Given the description of an element on the screen output the (x, y) to click on. 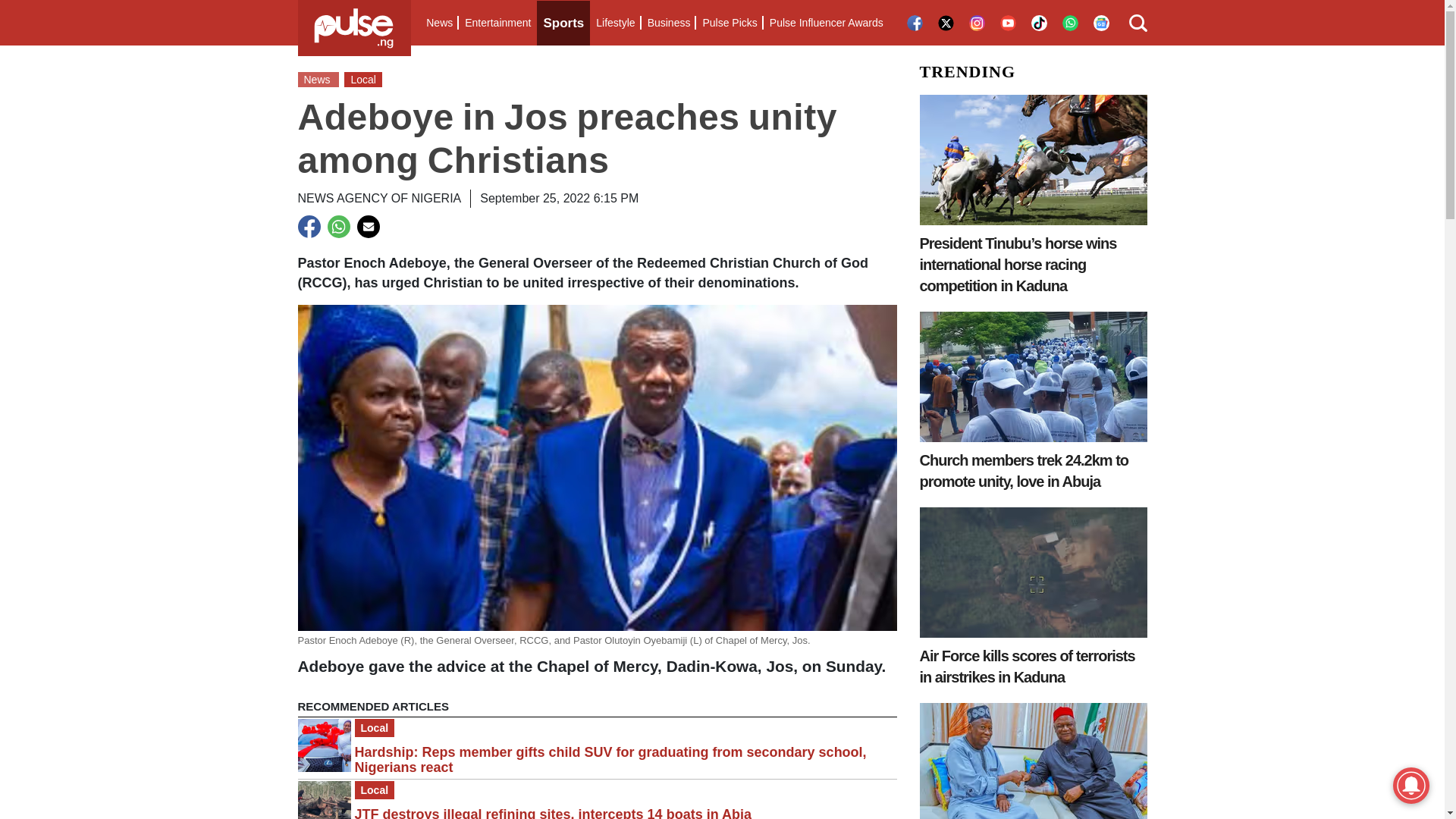
Business (669, 22)
Entertainment (497, 22)
Sports (563, 22)
Lifestyle (614, 22)
